Given the description of an element on the screen output the (x, y) to click on. 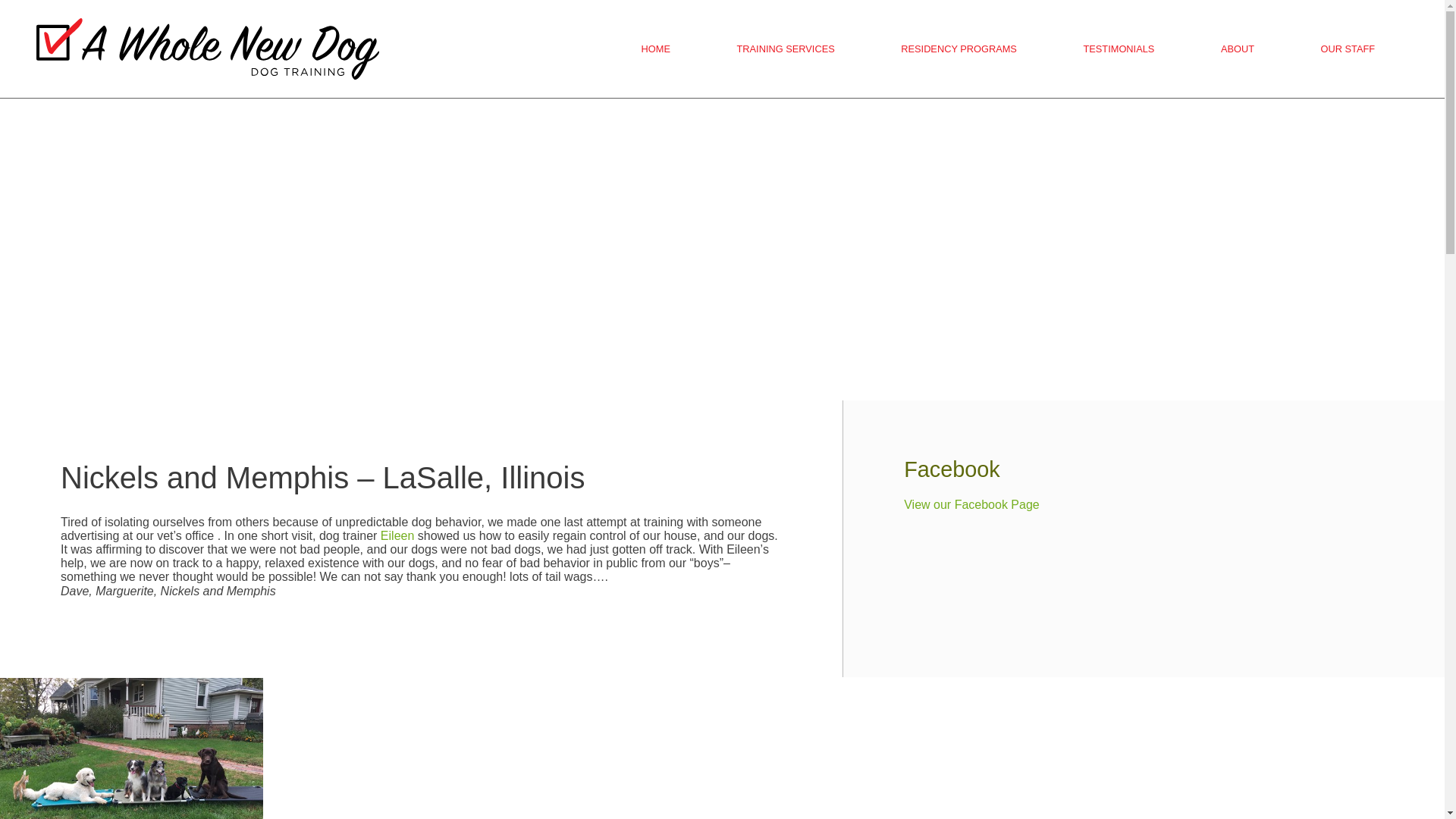
OUR STAFF (1347, 48)
HOME (655, 48)
TESTIMONIALS (1118, 48)
View our Facebook Page (971, 504)
TRAINING SERVICES (785, 48)
ABOUT (1237, 48)
Eileen (396, 535)
RESIDENCY PROGRAMS (958, 48)
